Given the description of an element on the screen output the (x, y) to click on. 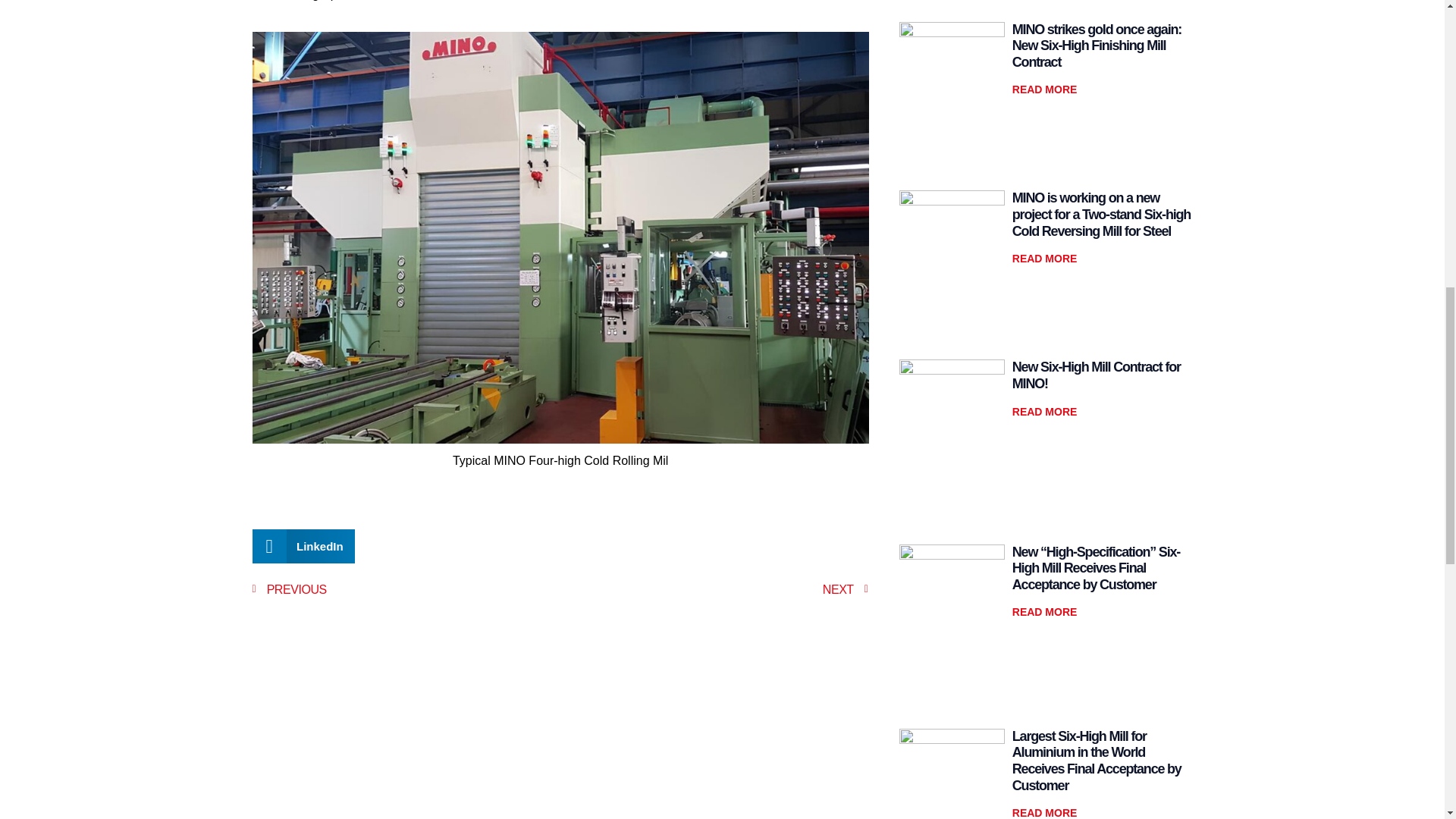
NEXT (713, 589)
PREVIOUS (405, 589)
